Given the description of an element on the screen output the (x, y) to click on. 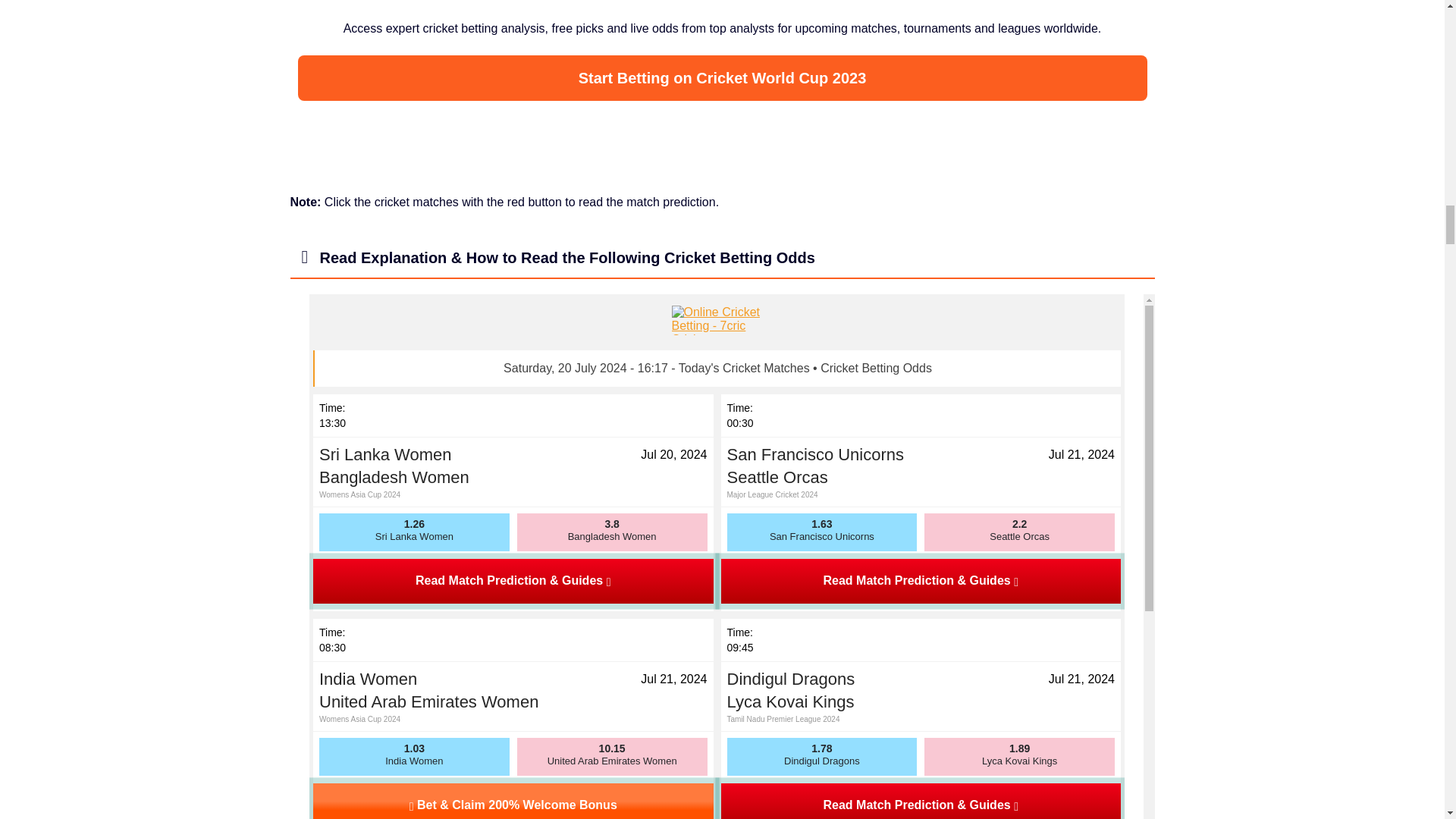
Start Betting on Cricket World Cup 2023 (722, 77)
